Given the description of an element on the screen output the (x, y) to click on. 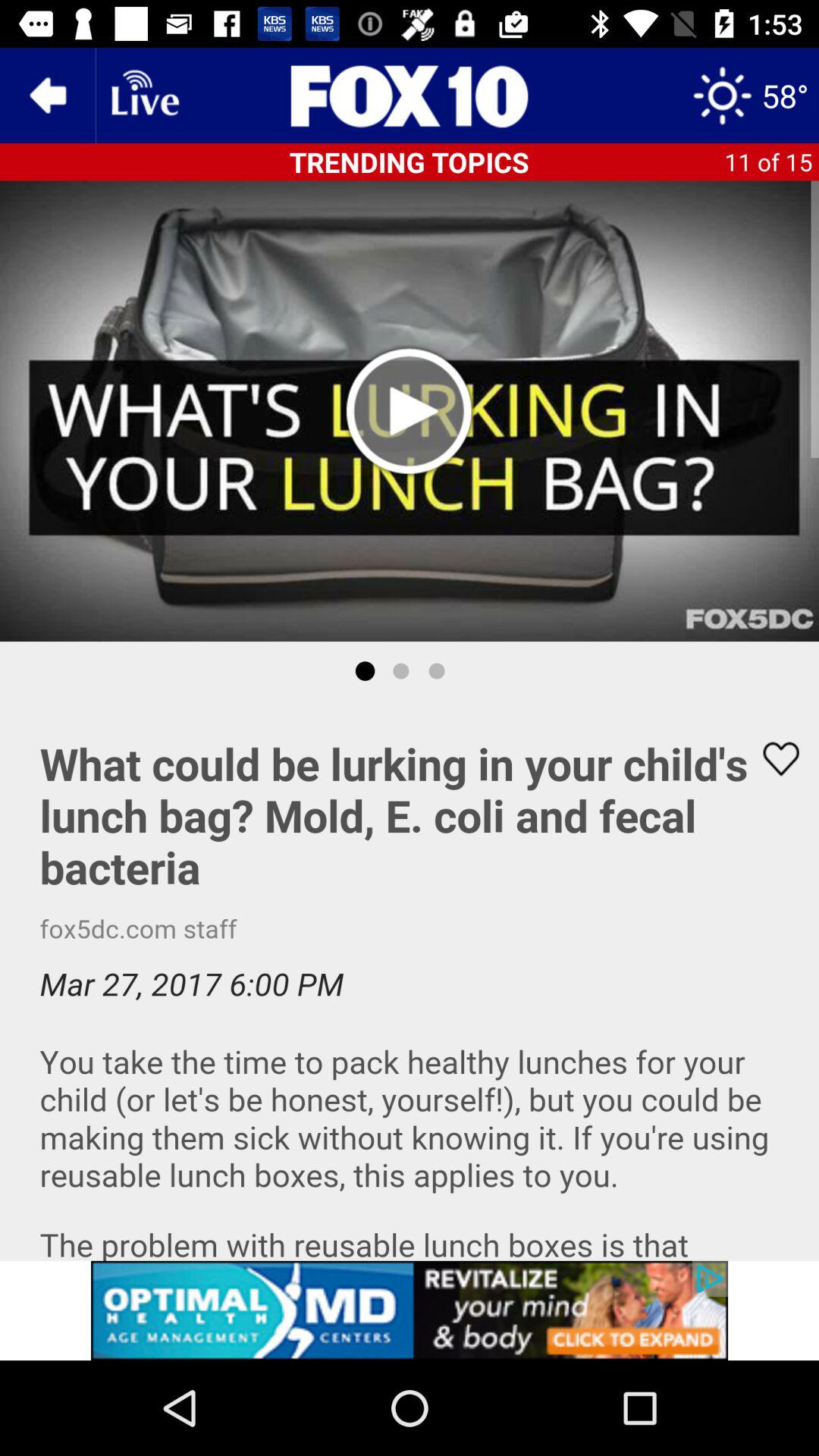
advertisement page (409, 95)
